Given the description of an element on the screen output the (x, y) to click on. 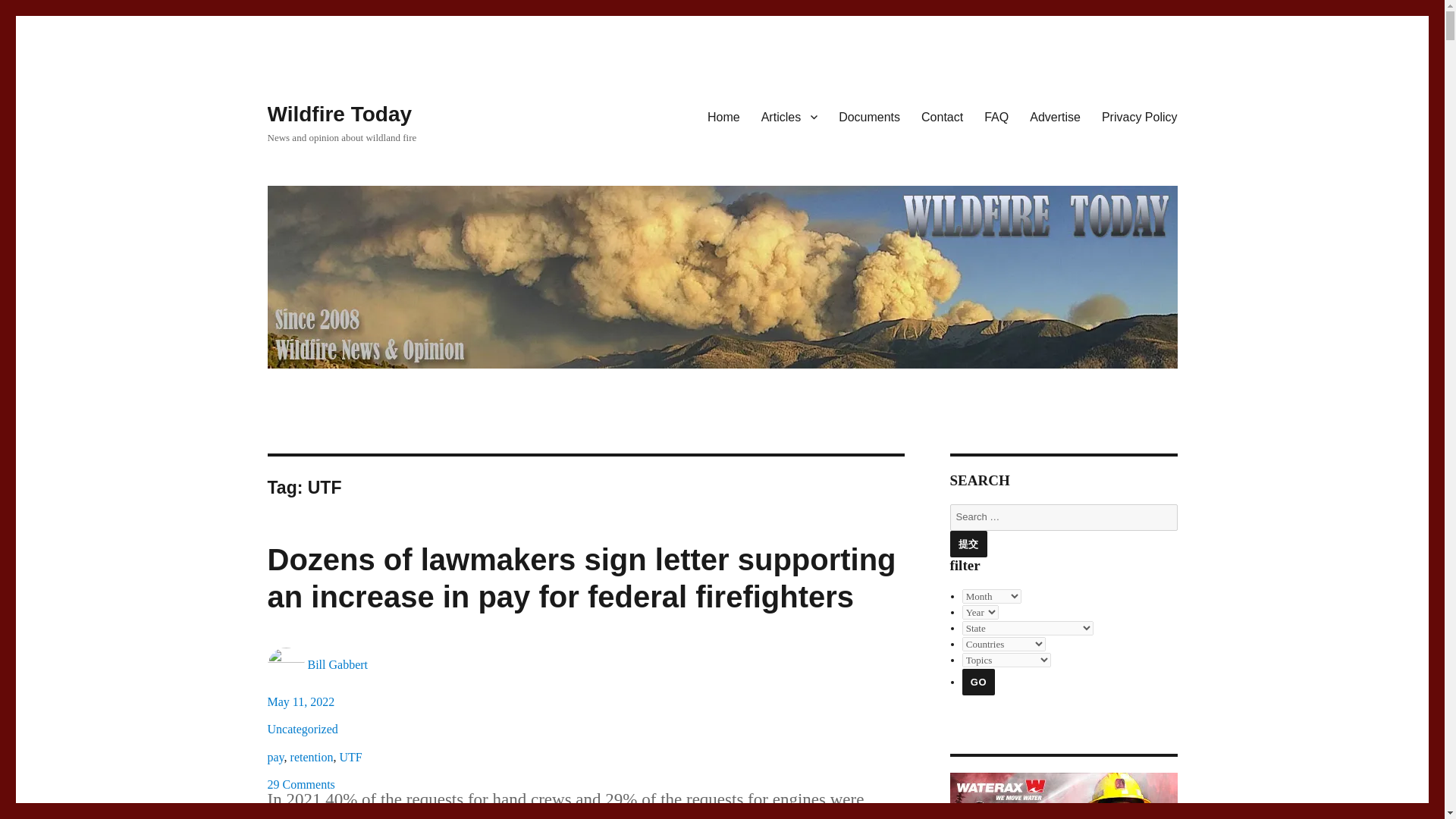
FAQ (996, 116)
May 11, 2022 (300, 701)
UTF (350, 757)
Documents (869, 116)
Bill Gabbert (337, 664)
Go (978, 682)
Wildfire Today (339, 114)
Articles (789, 116)
Home (724, 116)
retention (311, 757)
pay (274, 757)
Advertise (1054, 116)
Privacy Policy (1139, 116)
